Given the description of an element on the screen output the (x, y) to click on. 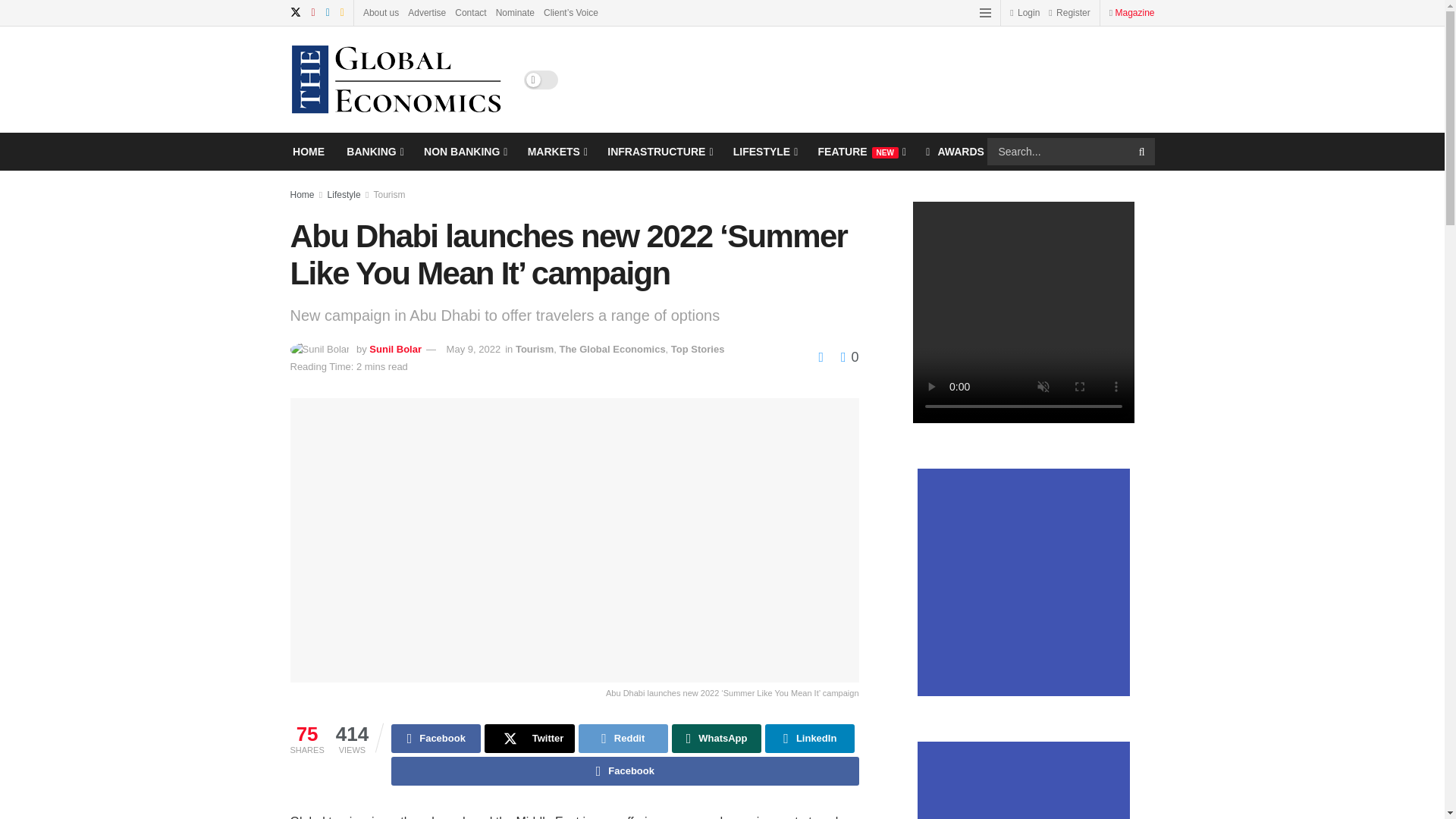
About us (380, 12)
LIFESTYLE (764, 151)
Magazine (1134, 12)
Advertise (426, 12)
MARKETS (556, 151)
Contact (470, 12)
Home (301, 194)
FEATURENEW (861, 151)
Lifestyle (344, 194)
AWARDS (955, 151)
BANKING (373, 151)
Login (1024, 12)
Register (1068, 12)
INFRASTRUCTURE (658, 151)
Nominate (515, 12)
